Given the description of an element on the screen output the (x, y) to click on. 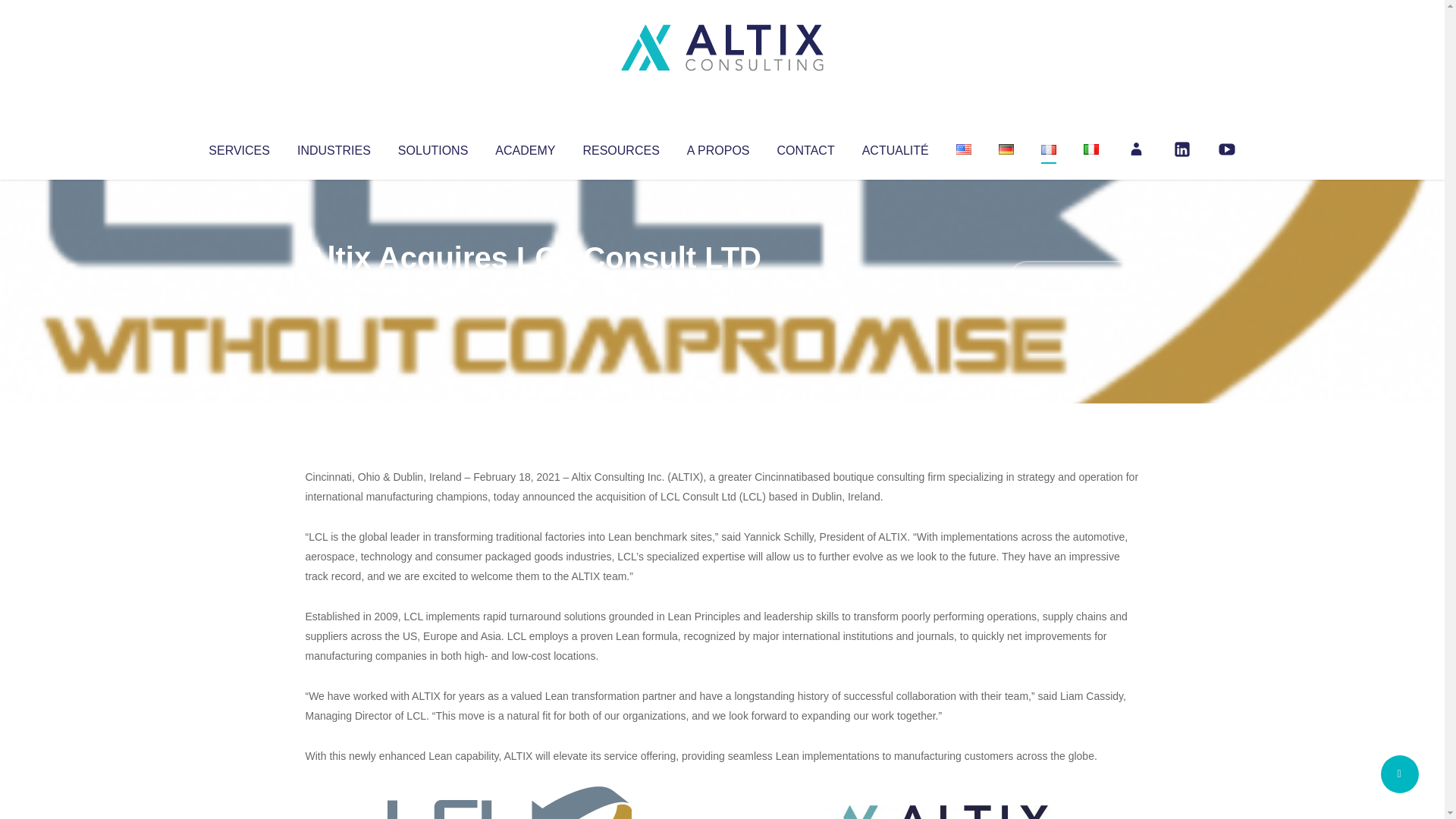
Uncategorized (530, 287)
SOLUTIONS (432, 146)
ACADEMY (524, 146)
RESOURCES (620, 146)
Articles par Altix (333, 287)
No Comments (1073, 278)
Altix (333, 287)
SERVICES (238, 146)
A PROPOS (718, 146)
INDUSTRIES (334, 146)
